Given the description of an element on the screen output the (x, y) to click on. 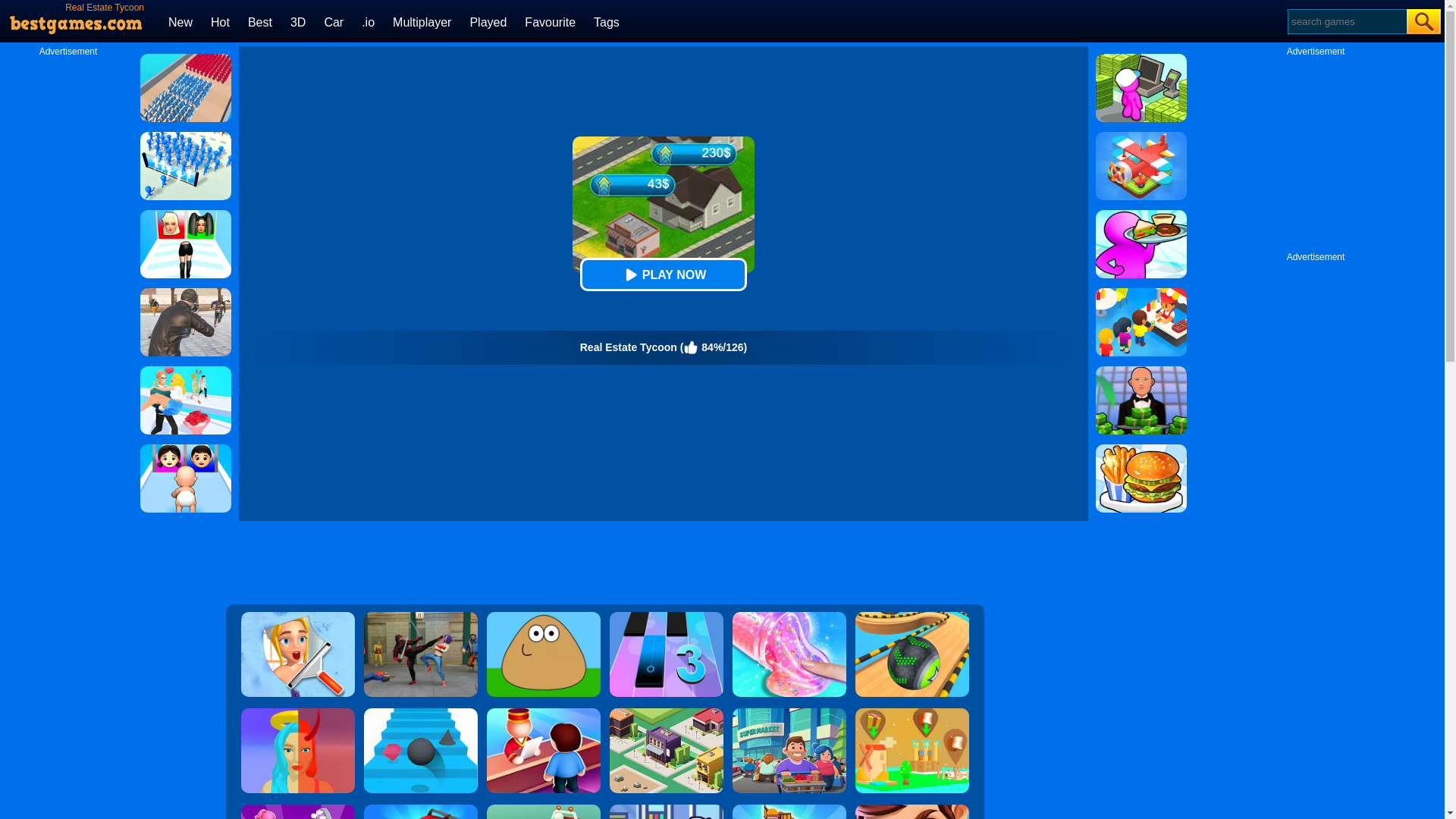
Advertisement (603, 562)
Best (259, 21)
New (180, 21)
Advertisement (1315, 152)
Favourite (549, 21)
3D (297, 21)
Multiplayer (422, 21)
PLAY NOW (662, 274)
Car (333, 21)
Tags (607, 21)
